Given the description of an element on the screen output the (x, y) to click on. 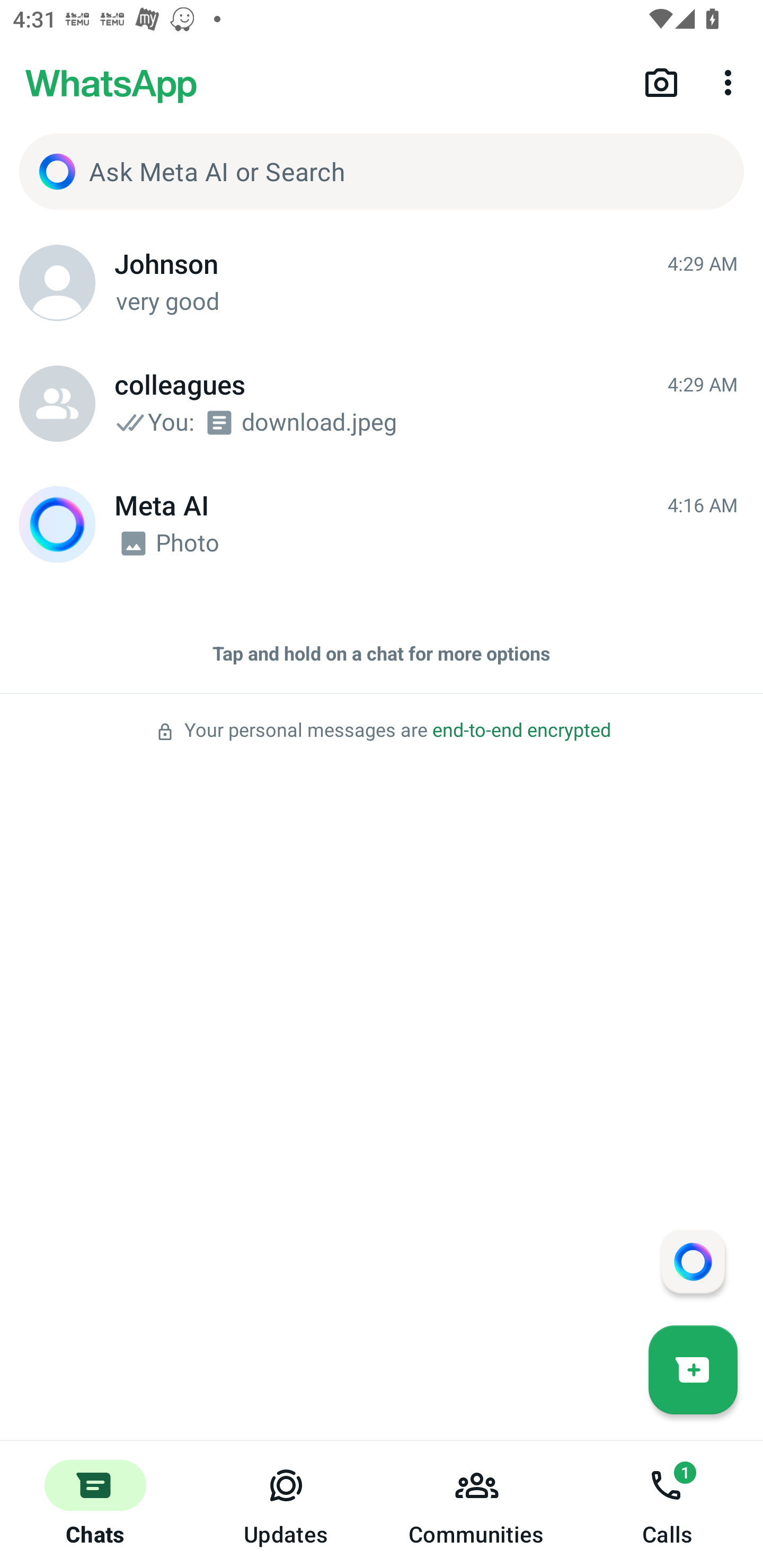
Camera (661, 81)
More options (731, 81)
Johnson Johnson 4:29 AM 4:29 AM very good (381, 282)
Johnson (57, 282)
colleagues (57, 403)
Meta AI Meta AI 4:16 AM 4:16 AM Photo (381, 524)
Meta AI (57, 524)
end-to-end encrypted (521, 730)
Message your assistant (692, 1261)
New chat (692, 1369)
Updates (285, 1504)
Communities (476, 1504)
Calls, 1 new notification Calls (667, 1504)
